Given the description of an element on the screen output the (x, y) to click on. 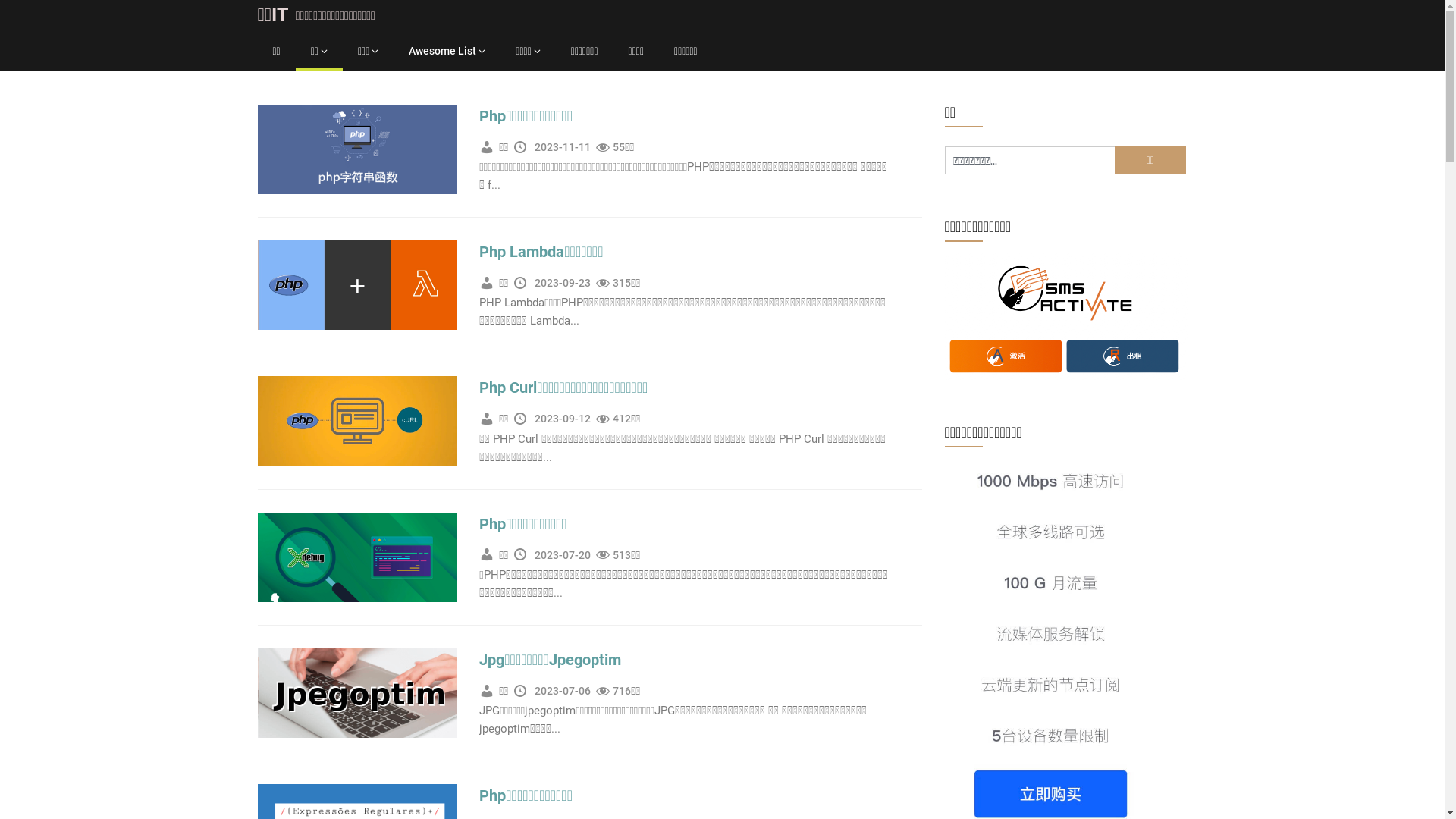
Skip to content Element type: text (0, 0)
Awesome List Element type: text (446, 51)
